Given the description of an element on the screen output the (x, y) to click on. 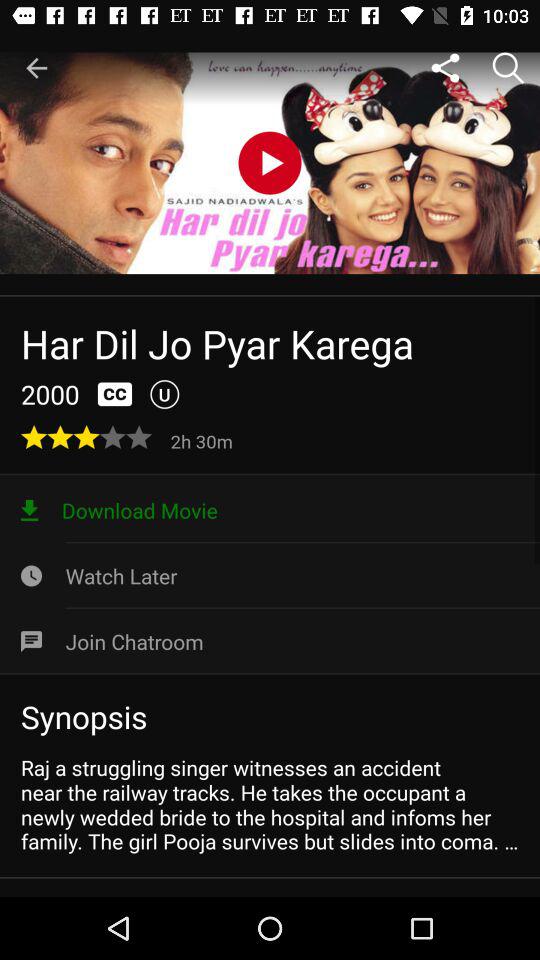
turn on icon below download movie icon (270, 575)
